Given the description of an element on the screen output the (x, y) to click on. 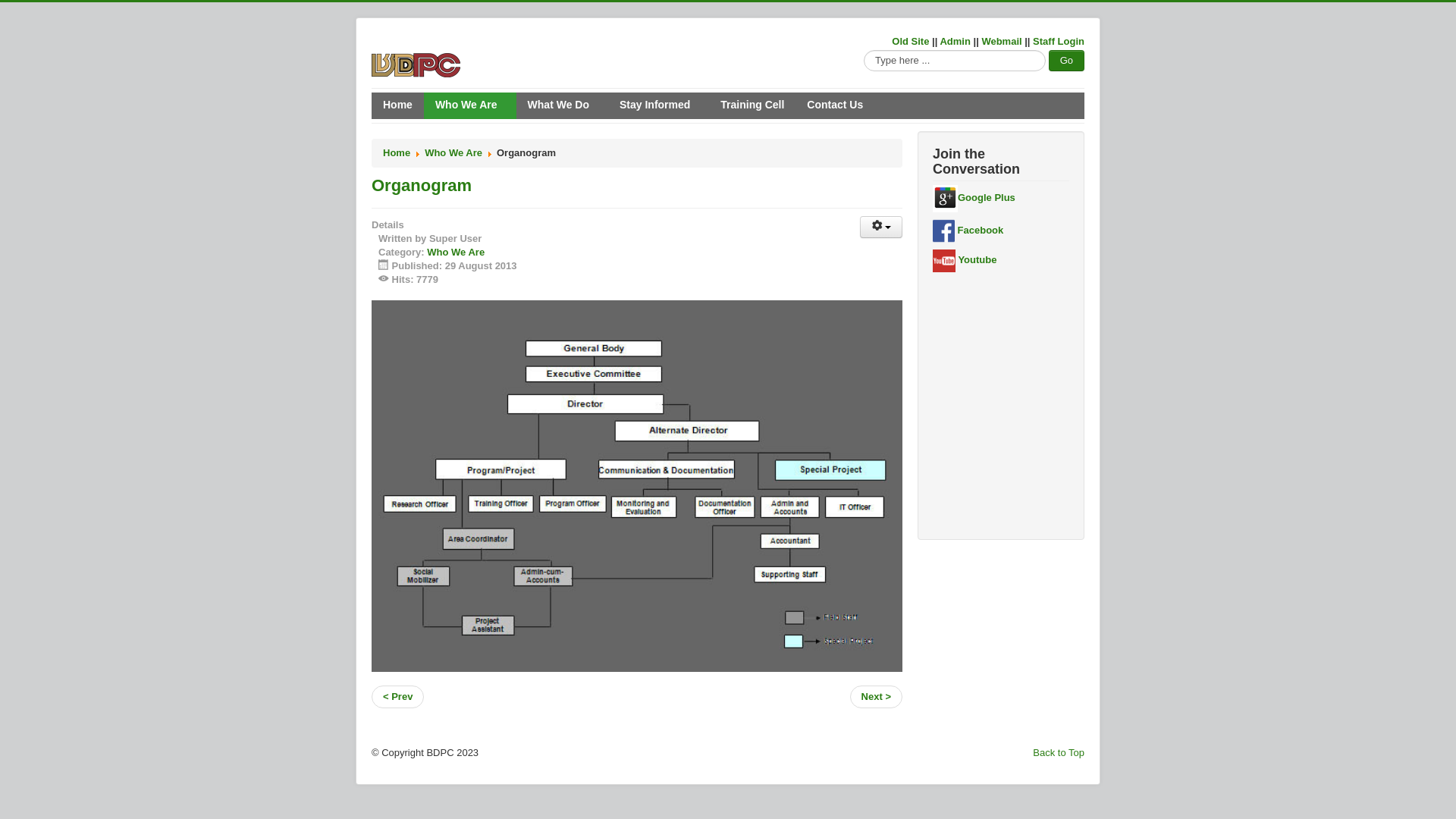
What We Do Element type: text (562, 105)
Back to Top Element type: text (1058, 752)
Who We Are Element type: text (455, 251)
Stay Informed Element type: text (658, 105)
Home Element type: text (397, 105)
 Facebook Element type: text (967, 229)
Google Plus Element type: text (973, 197)
Training Cell Element type: text (752, 105)
Home Element type: text (396, 152)
Go Element type: text (1066, 60)
Organogram Element type: text (421, 184)
Old Site Element type: text (909, 41)
Who We Are Element type: text (453, 152)
Contact Us Element type: text (834, 105)
 Youtube Element type: text (964, 259)
Webmail Element type: text (1001, 41)
Who We Are Element type: text (469, 105)
Staff Login Element type: text (1058, 41)
Admin Element type: text (954, 41)
< Prev Element type: text (397, 696)
Next > Element type: text (876, 696)
